Given the description of an element on the screen output the (x, y) to click on. 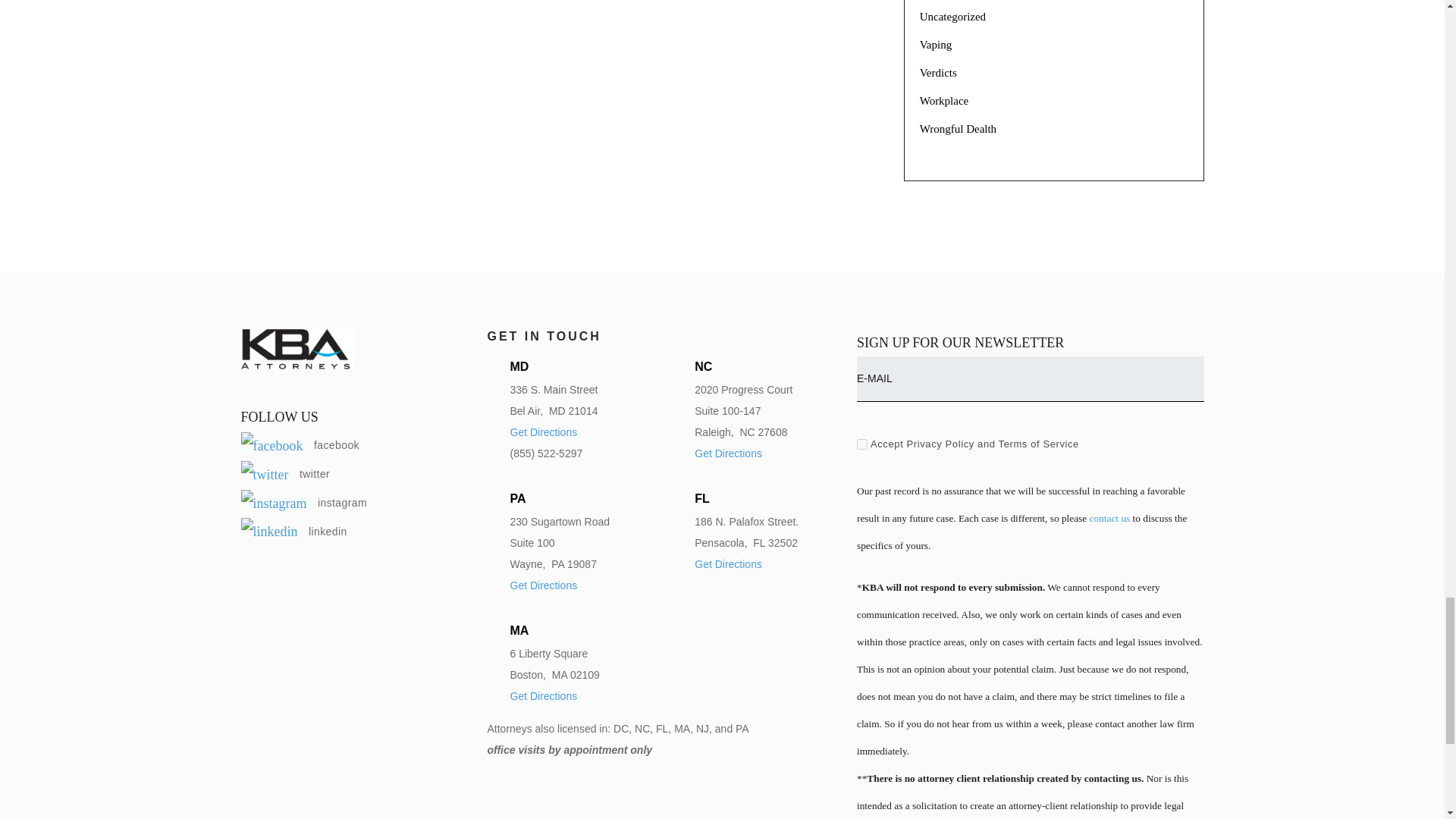
Submit (1186, 384)
Accept Privacy Policy and Terms of Service (862, 443)
